Given the description of an element on the screen output the (x, y) to click on. 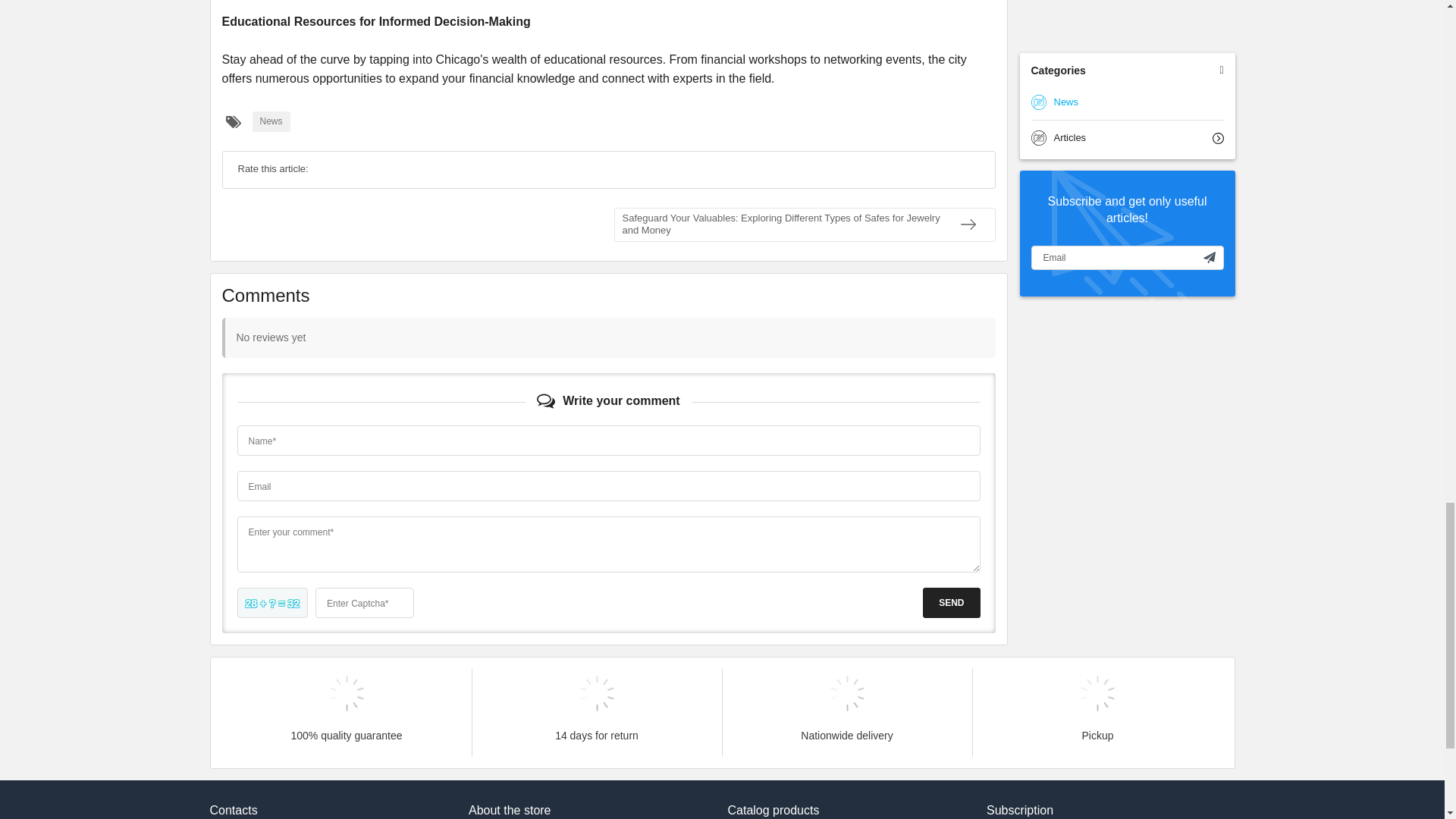
Nationwide delivery (846, 693)
SEND (951, 603)
14 days for return (596, 693)
Pickup (1097, 693)
News (270, 121)
